Given the description of an element on the screen output the (x, y) to click on. 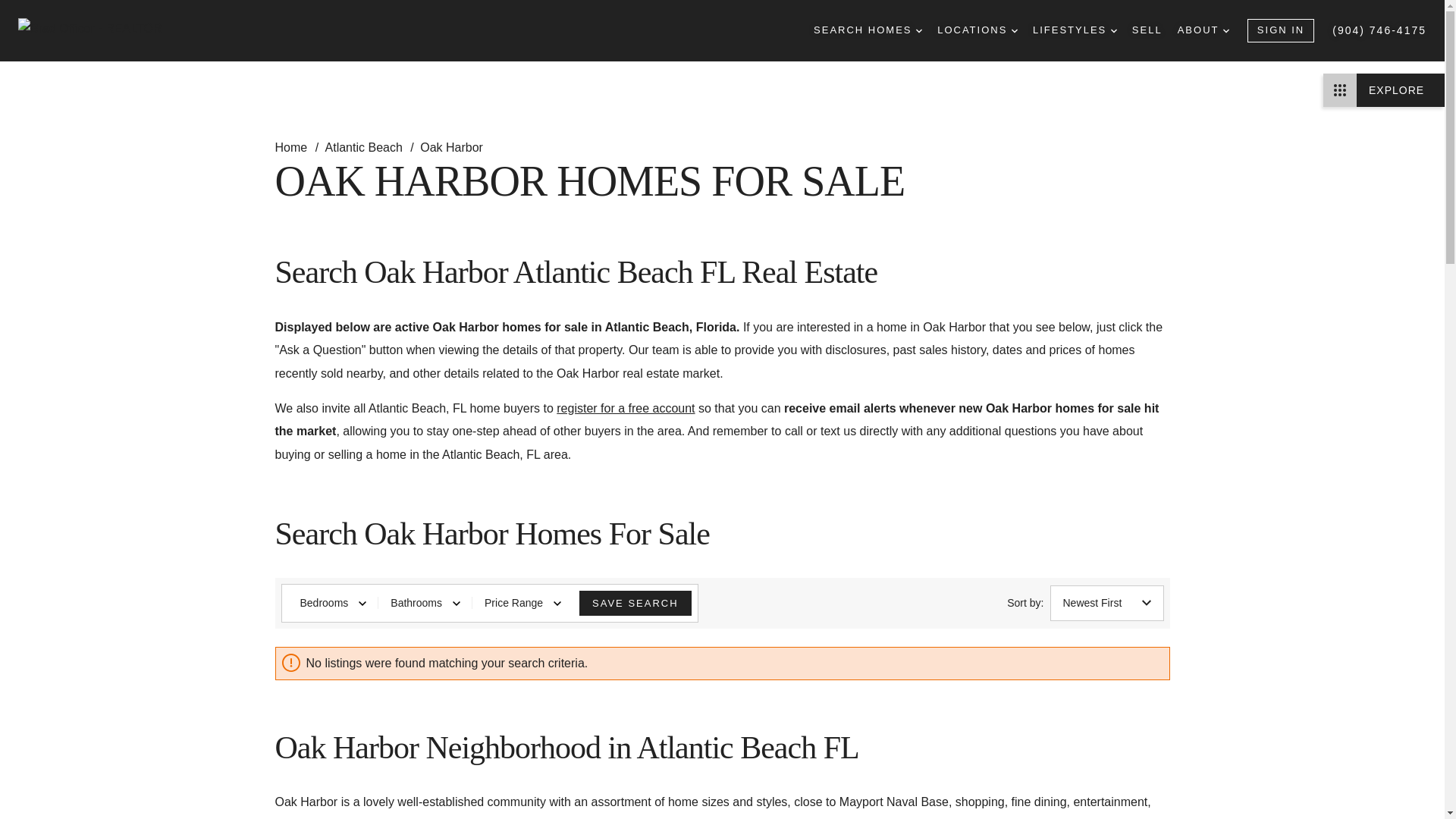
DROPDOWN ARROW (918, 30)
SELL (1146, 30)
ABOUT DROPDOWN ARROW (1202, 30)
DROPDOWN ARROW (1014, 30)
DROPDOWN ARROW (1225, 30)
DROPDOWN ARROW (1113, 30)
LIFESTYLES DROPDOWN ARROW (1074, 30)
LOCATIONS DROPDOWN ARROW (977, 30)
SEARCH HOMES DROPDOWN ARROW (867, 30)
